Given the description of an element on the screen output the (x, y) to click on. 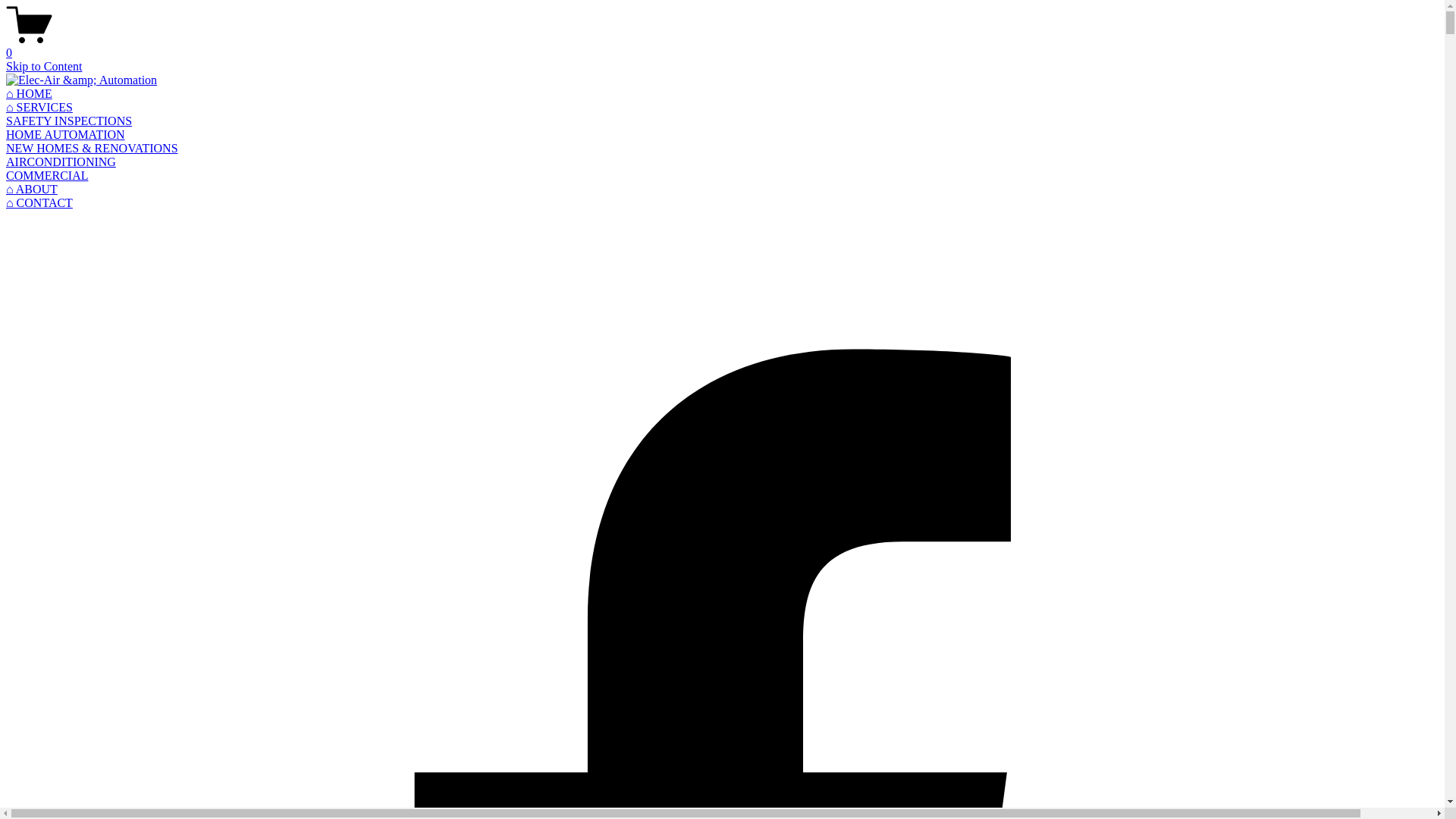
NEW HOMES & RENOVATIONS Element type: text (92, 147)
SAFETY INSPECTIONS Element type: text (68, 120)
AIRCONDITIONING Element type: text (61, 161)
COMMERCIAL Element type: text (46, 175)
0 Element type: text (722, 45)
Skip to Content Element type: text (43, 65)
HOME AUTOMATION Element type: text (65, 134)
